Given the description of an element on the screen output the (x, y) to click on. 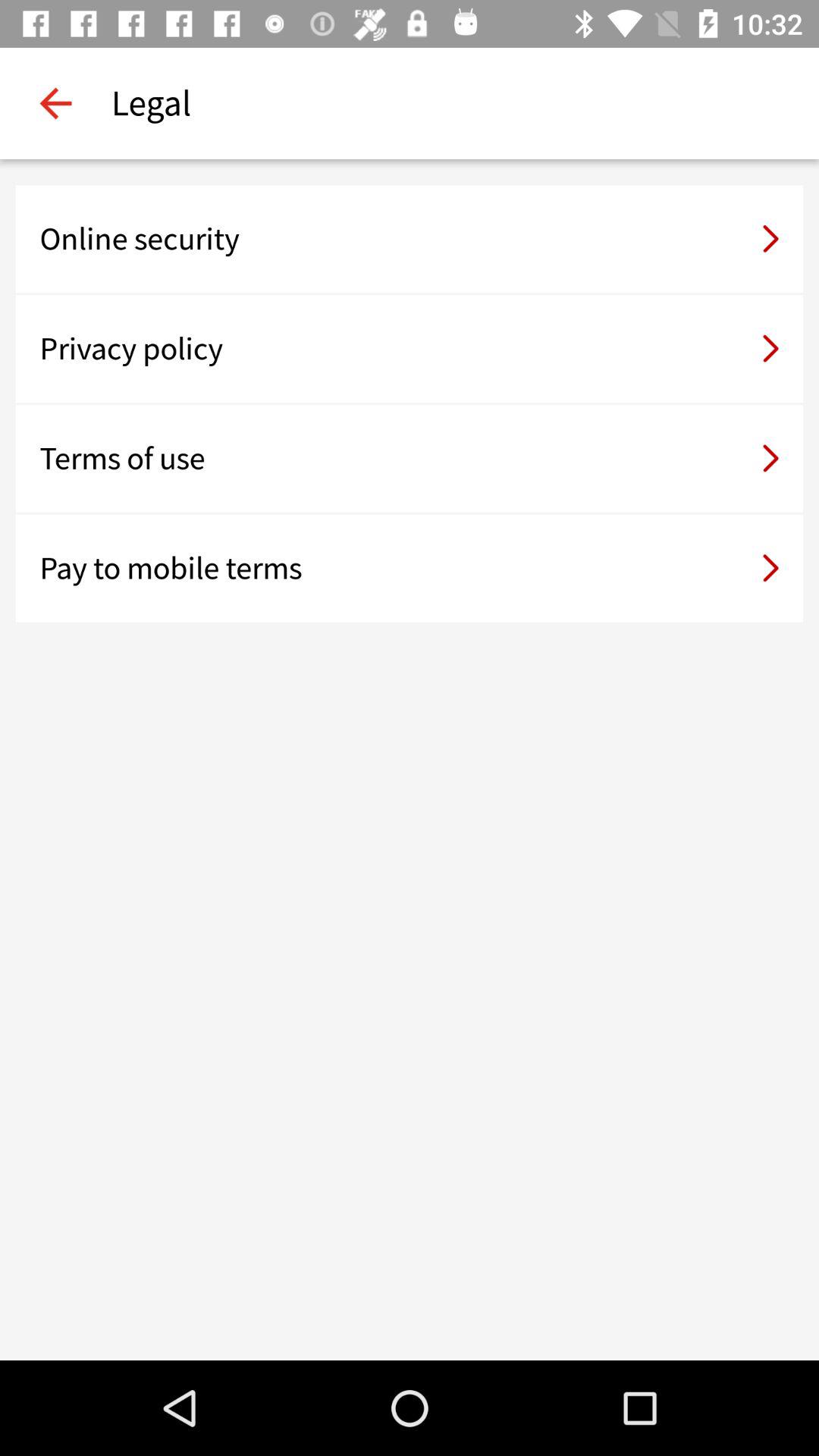
press the pay to mobile (409, 568)
